Given the description of an element on the screen output the (x, y) to click on. 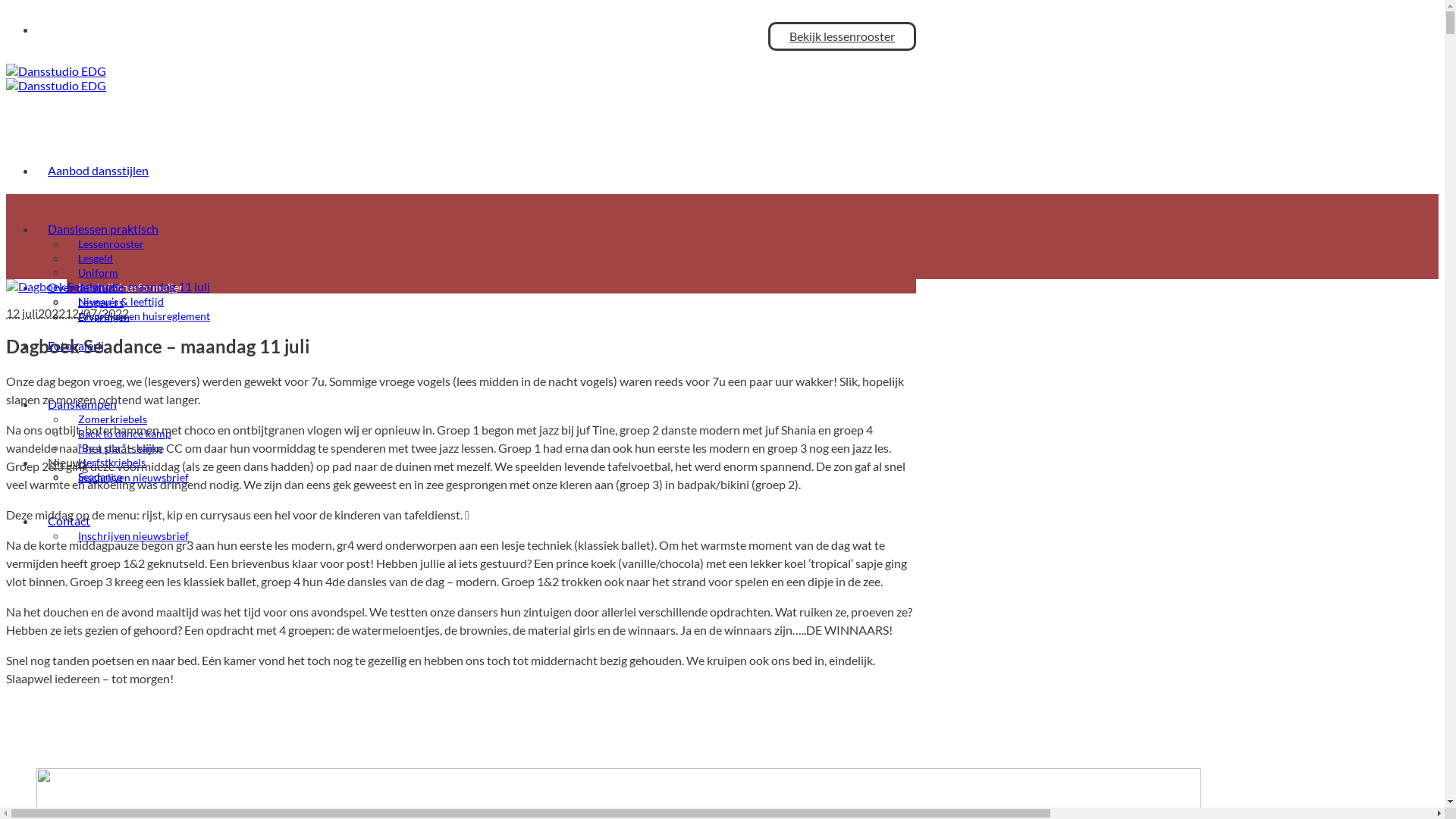
Inschrijven nieuwsbrief Element type: text (133, 535)
Uniform Element type: text (97, 272)
Nieuws Element type: text (67, 462)
Afspraken en huisreglement Element type: text (143, 315)
Fotogalerij Element type: text (75, 345)
Dansstudio EDG Element type: hover (56, 77)
Aanbod dansstijlen Element type: text (98, 170)
Ervaringen Element type: text (103, 316)
Seadance Element type: text (99, 476)
Contact Element type: text (68, 520)
Back to dance kamp Element type: text (124, 433)
Lessenrooster Element type: text (110, 243)
Zomerkriebels Element type: text (112, 418)
Lesgevers Element type: text (100, 301)
Over de studio Element type: text (86, 287)
Lesgeld Element type: text (95, 257)
Danskampen Element type: text (82, 403)
Herfstkriebels Element type: text (111, 461)
Inschrijvingsformulier Element type: text (130, 286)
Danslessen praktisch Element type: text (102, 228)
Inschrijven nieuwsbrief Element type: text (133, 477)
Bekijk lessenrooster Element type: text (842, 35)
